Given the description of an element on the screen output the (x, y) to click on. 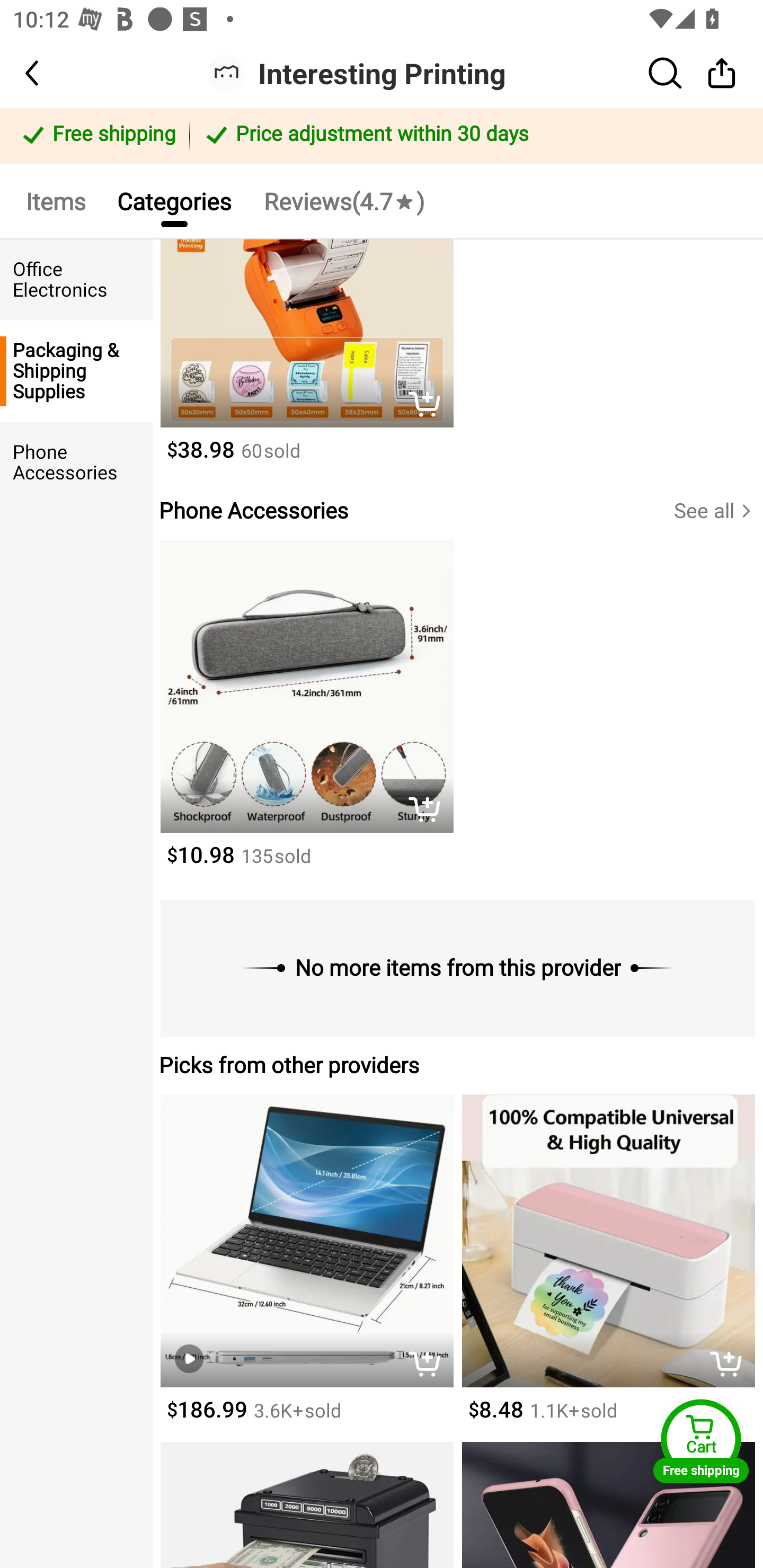
back (47, 72)
share (721, 72)
Free shipping (97, 135)
Price adjustment within 30 days (472, 135)
Items (55, 200)
Categories (174, 200)
Reviews(4.7 ) (343, 200)
Office Electronics (76, 279)
delete $38.98 60￼sold (306, 360)
Packaging & Shipping Supplies (76, 370)
delete (429, 406)
Phone Accessories (76, 462)
See all (718, 510)
delete $10.98 135￼sold (306, 713)
delete (429, 811)
delete $186.99 3.6K+￼sold (306, 1268)
delete $8.48 1.1K+￼sold (608, 1268)
delete (429, 1365)
delete (731, 1365)
Cart Free shipping Cart (701, 1440)
